Given the description of an element on the screen output the (x, y) to click on. 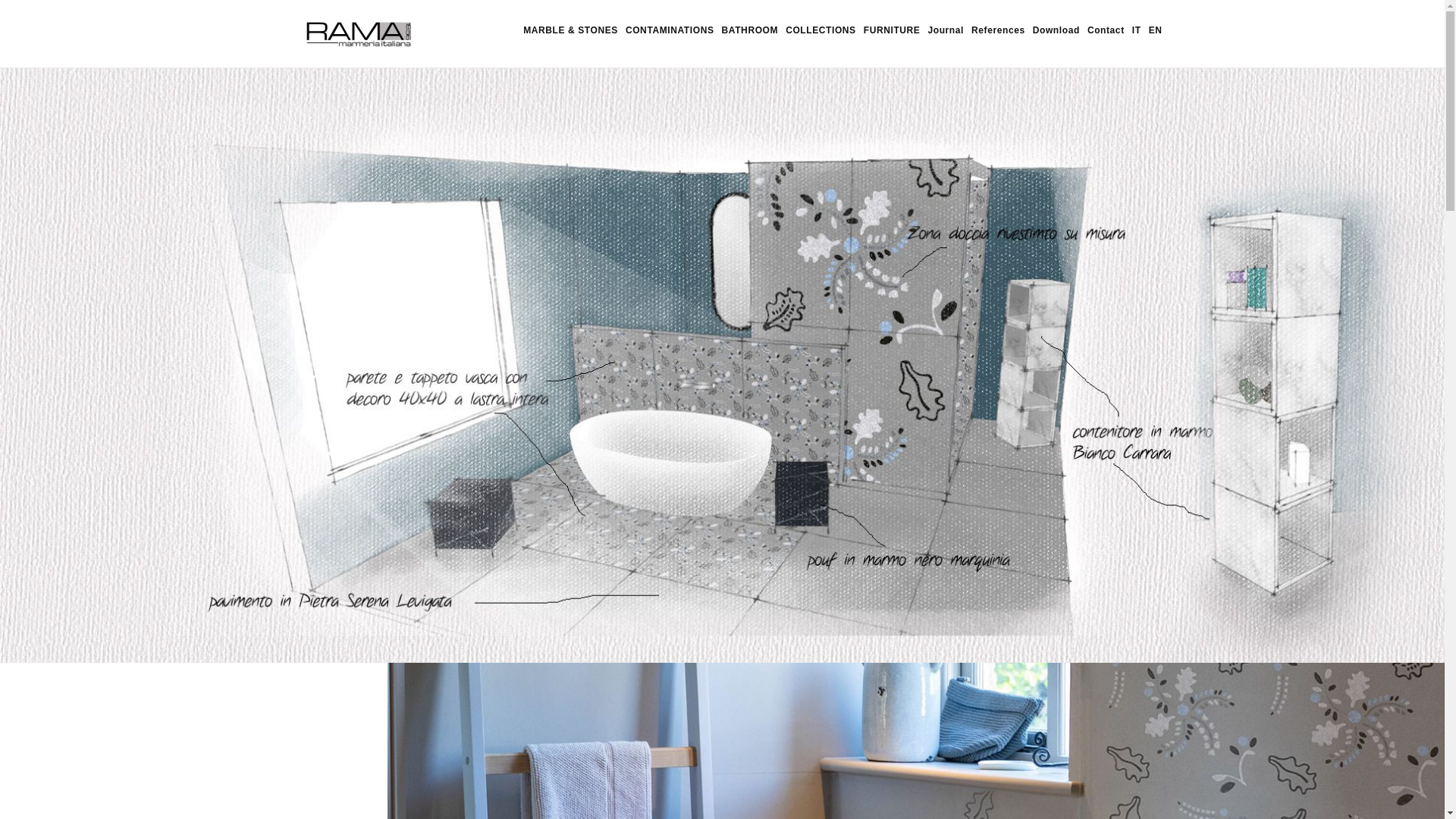
FURNITURE (892, 30)
BATHROOM (750, 30)
References (998, 30)
CONTAMINATIONS (669, 30)
COLLECTIONS (820, 30)
Download (1056, 30)
